Given the description of an element on the screen output the (x, y) to click on. 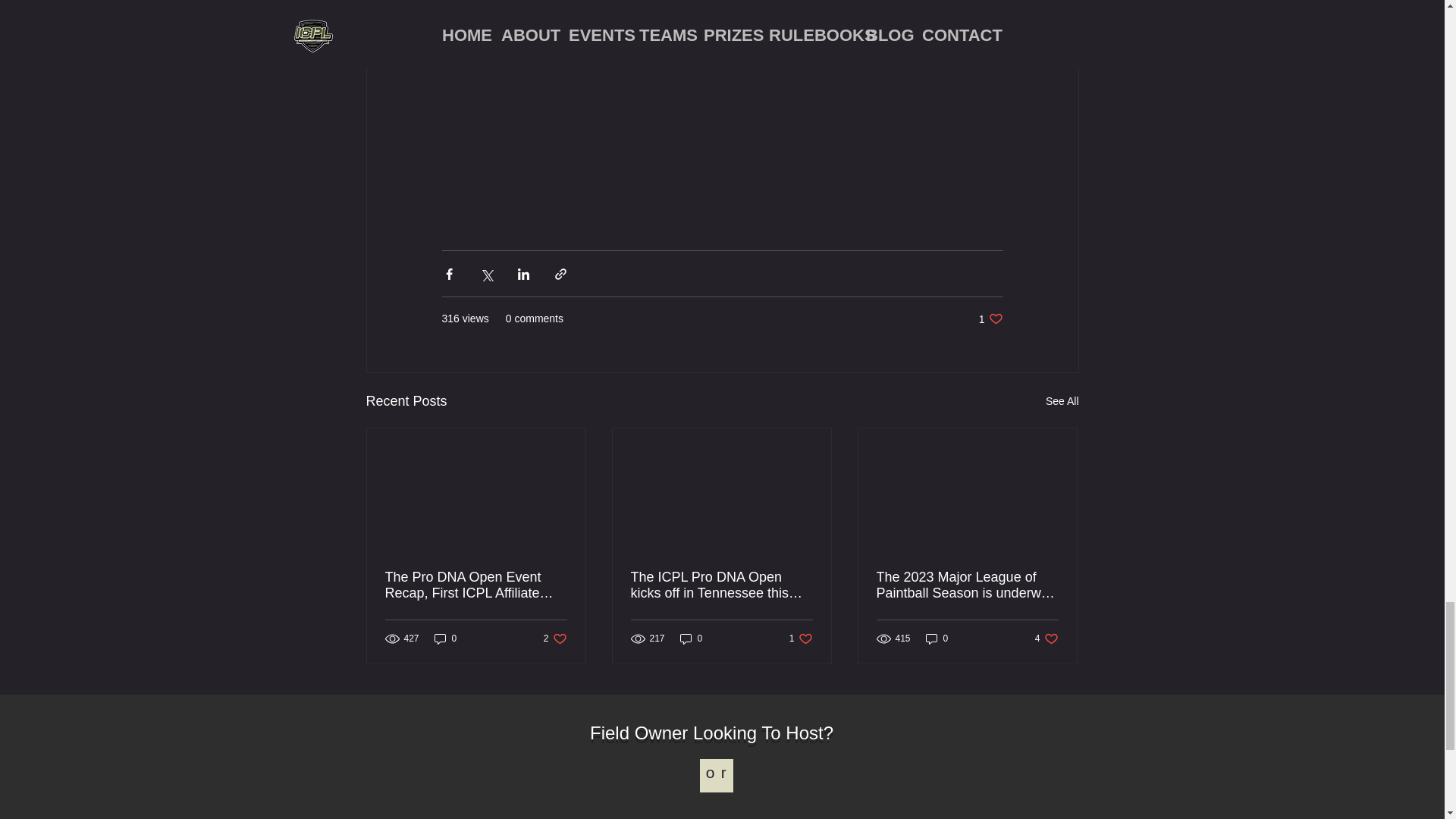
0 (1046, 637)
See All (990, 318)
0 (691, 637)
